Given the description of an element on the screen output the (x, y) to click on. 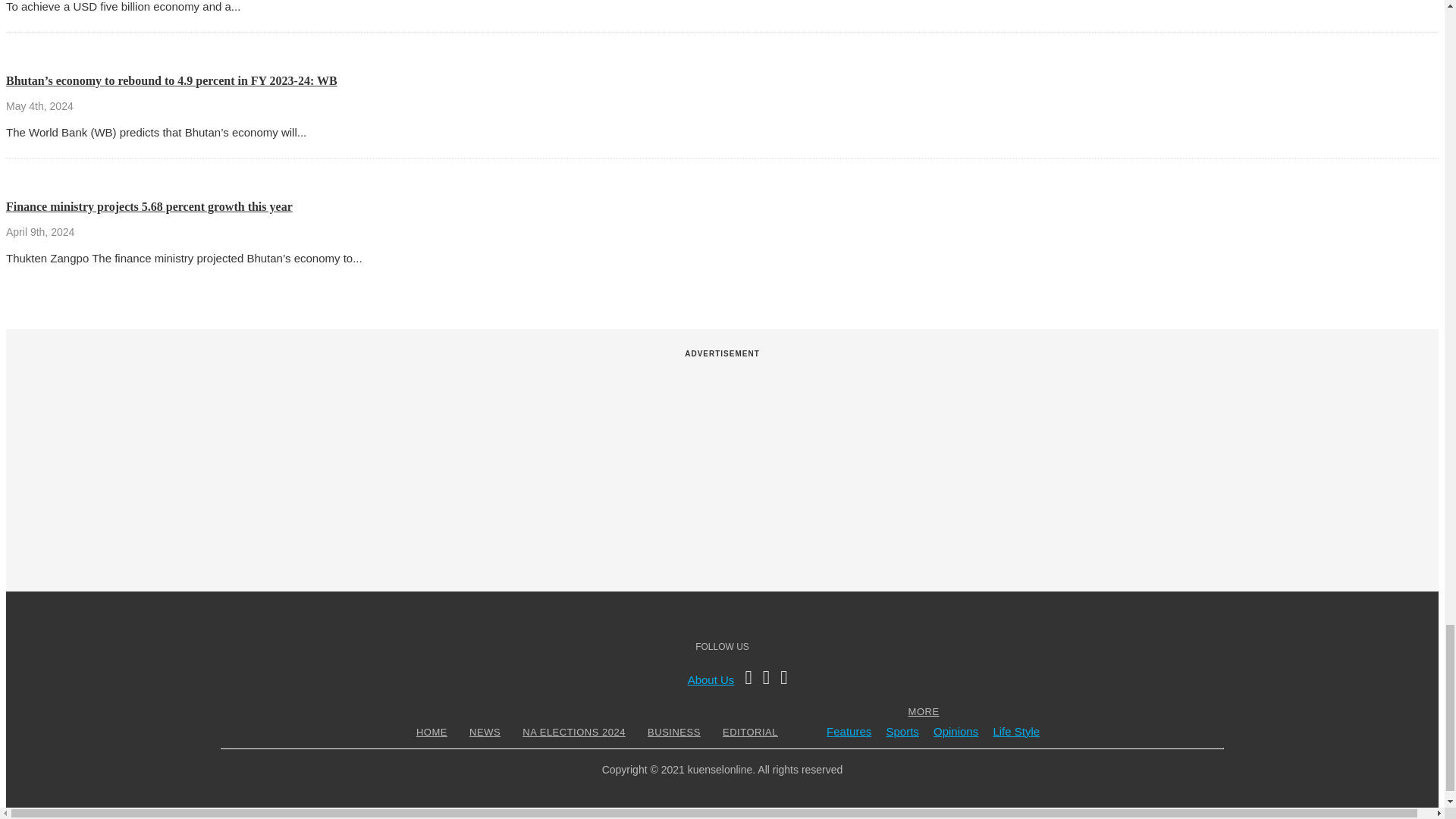
About Us (711, 679)
NA ELECTIONS 2024 (573, 731)
EDITORIAL (750, 731)
MORE (923, 711)
Finance ministry projects 5.68 percent growth this year (148, 205)
HOME (431, 731)
NEWS (484, 731)
BUSINESS (673, 731)
